Given the description of an element on the screen output the (x, y) to click on. 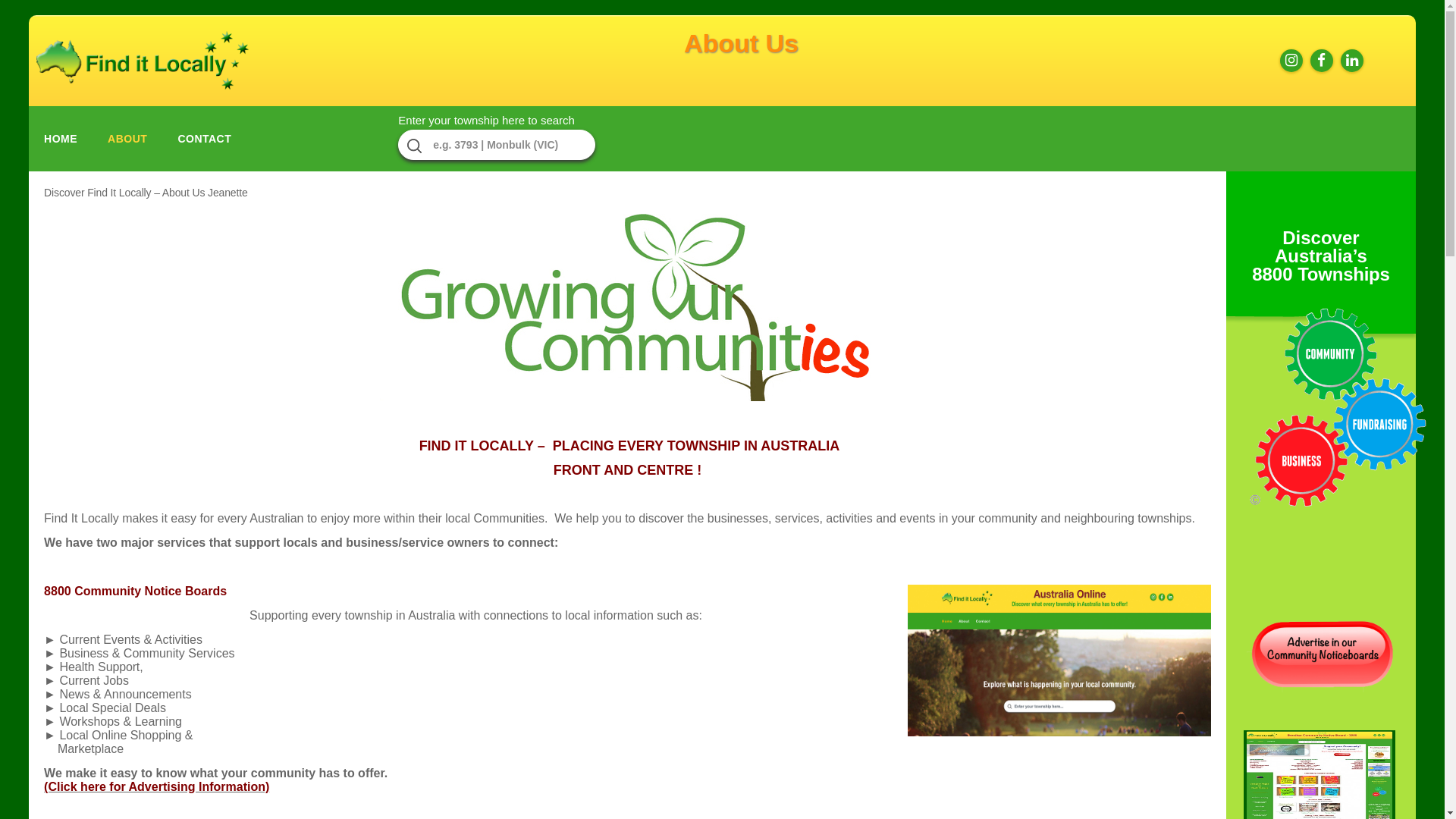
HOME Element type: text (60, 138)
Instagram Element type: hover (1291, 60)
ABOUT Element type: text (127, 138)
Community NB Entry Image Element type: hover (1059, 660)
(Click here for Advertising Information) Element type: text (156, 786)
Advertise in CNB Element type: hover (1322, 653)
Become a Find it Locally Marketing Member Element type: hover (1322, 688)
About Us FIL Element type: hover (626, 307)
Linkdin Element type: hover (1351, 60)
CONTACT Element type: text (204, 138)
Facebook Element type: hover (1321, 60)
